Given the description of an element on the screen output the (x, y) to click on. 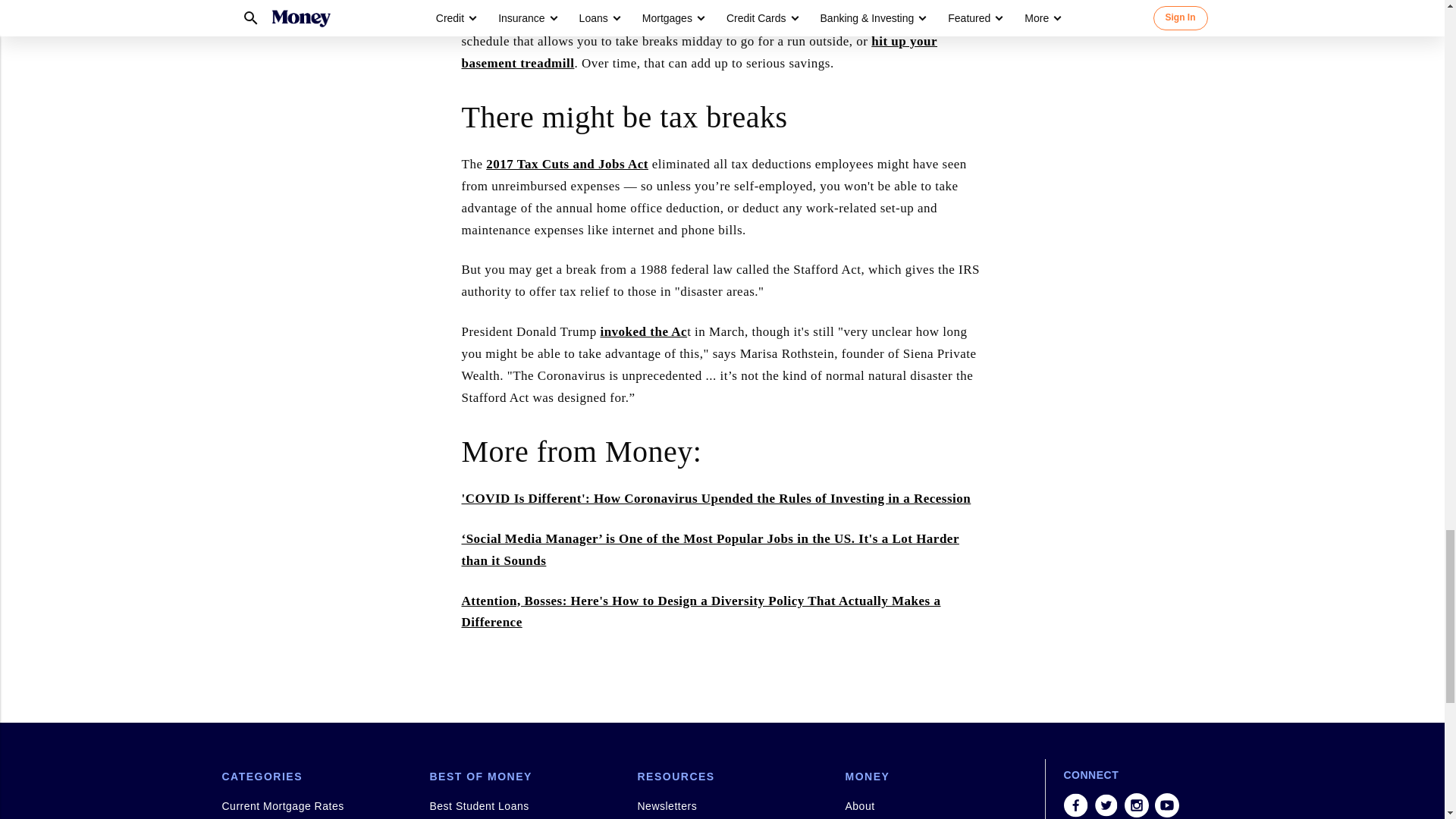
youtube share (1165, 805)
facebook share (1074, 805)
twitter share (1105, 805)
instagram share (1136, 805)
